Given the description of an element on the screen output the (x, y) to click on. 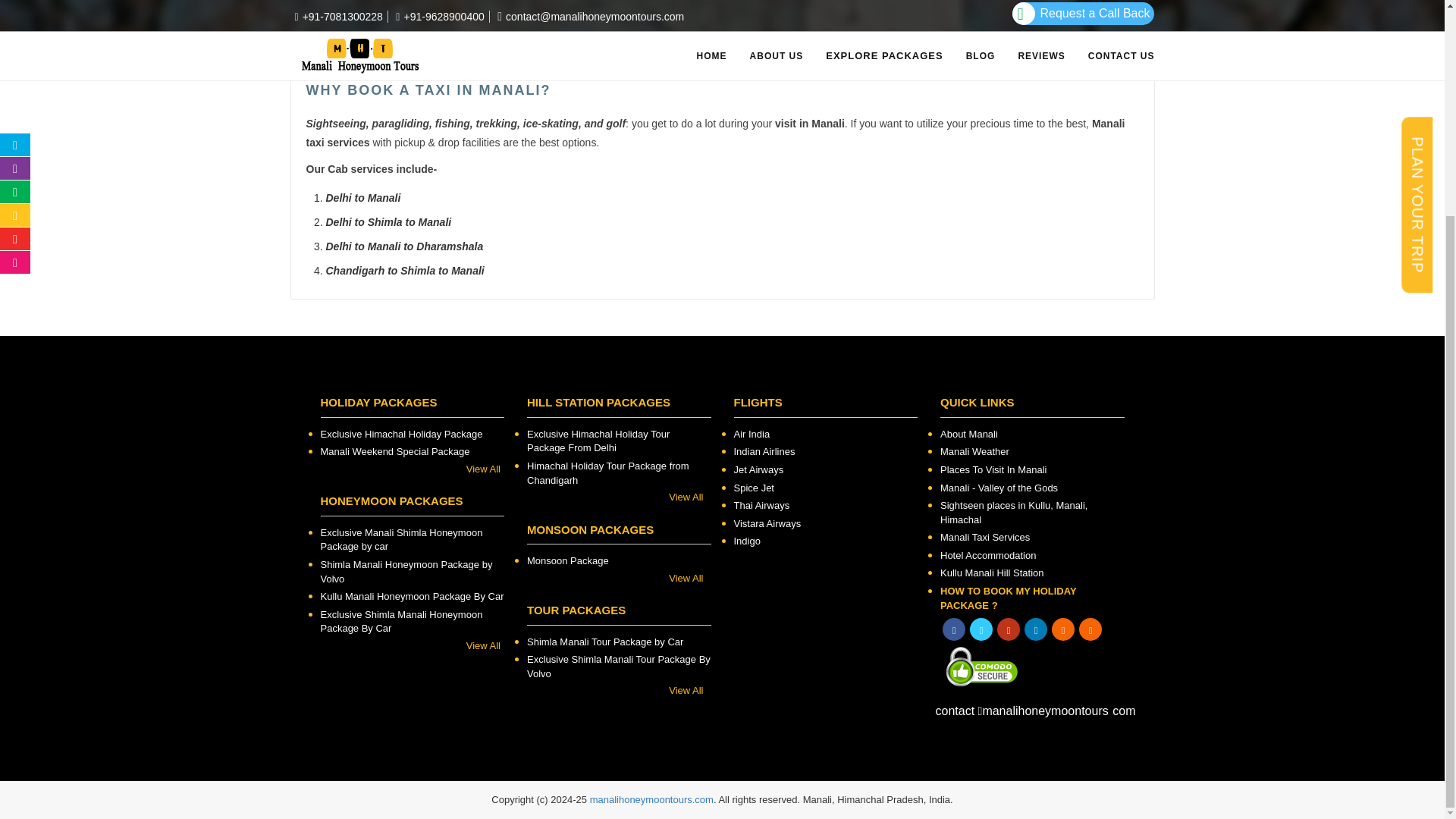
Exclusive Himachal Holiday Package (411, 434)
View All (410, 469)
Manali Weekend Special Package (411, 452)
Send Message (816, 166)
